Given the description of an element on the screen output the (x, y) to click on. 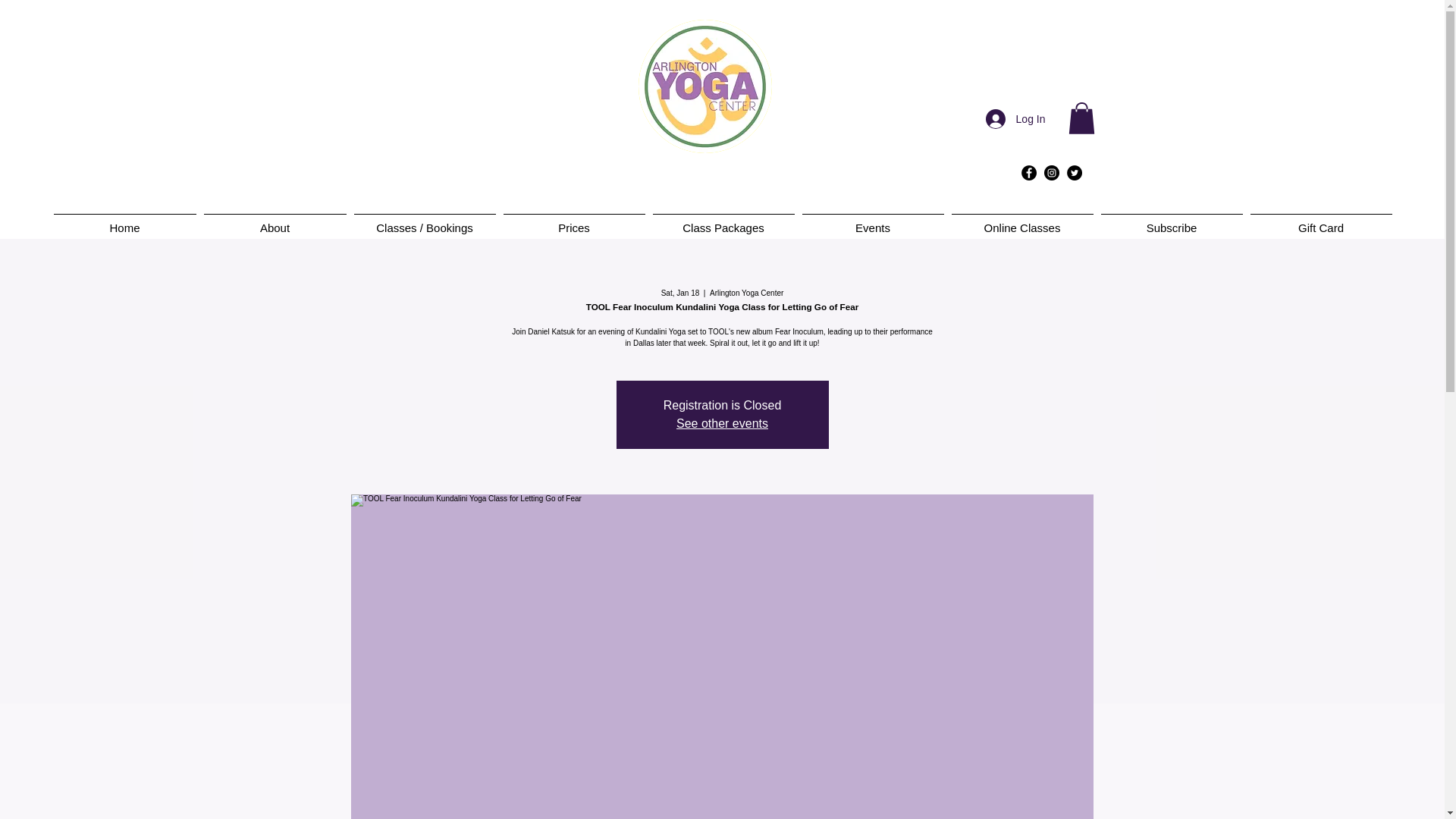
Class Packages (723, 221)
About (275, 221)
Gift Card (1321, 221)
Subscribe (1171, 221)
Home (124, 221)
Prices (573, 221)
Log In (1016, 118)
Online Classes (1022, 221)
See other events (722, 422)
Events (872, 221)
